Given the description of an element on the screen output the (x, y) to click on. 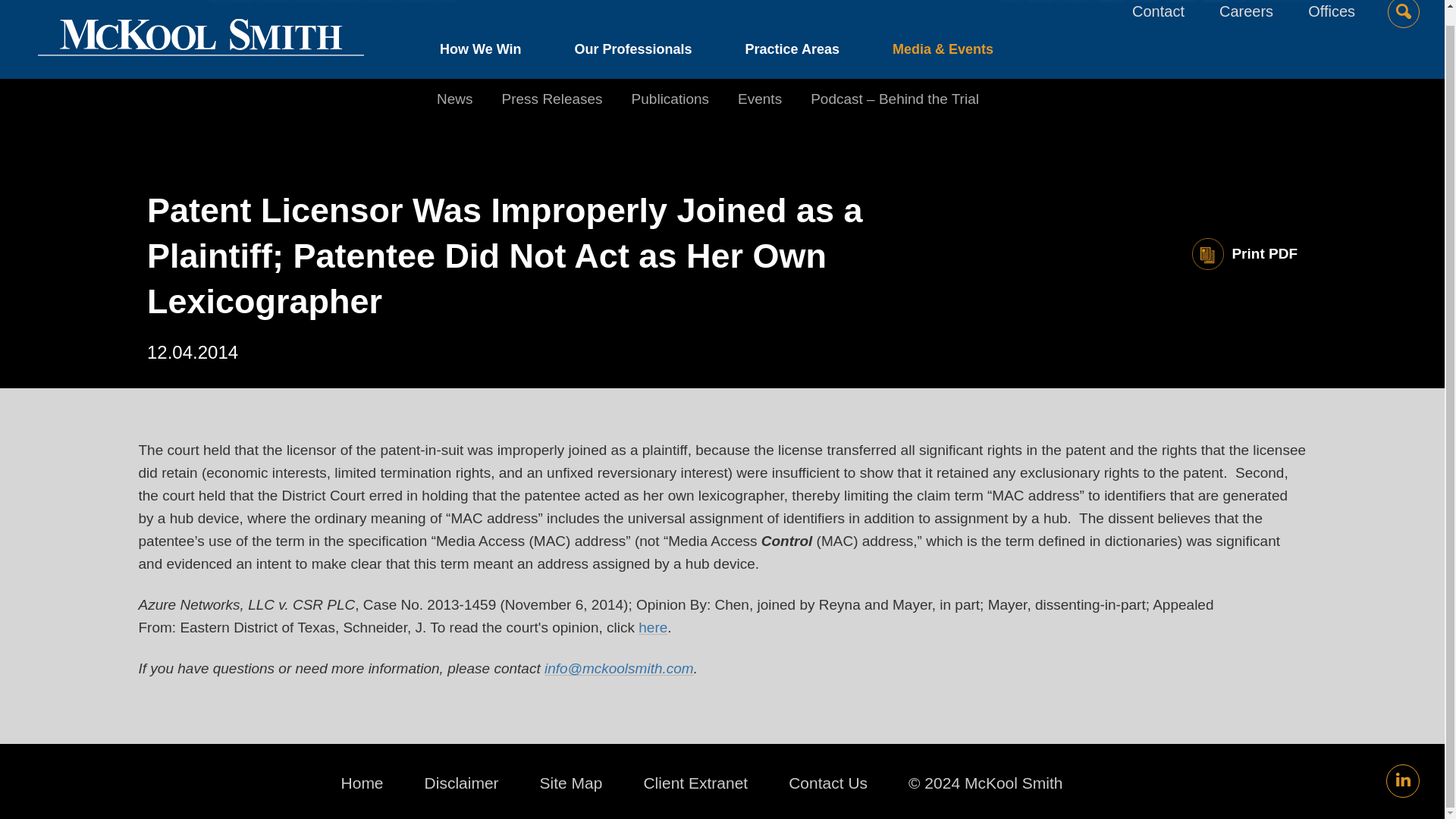
Menu (674, 9)
Main Menu (674, 9)
How We Win (493, 52)
Main Content (667, 9)
Our Professionals (632, 52)
Practice Areas (792, 52)
